Given the description of an element on the screen output the (x, y) to click on. 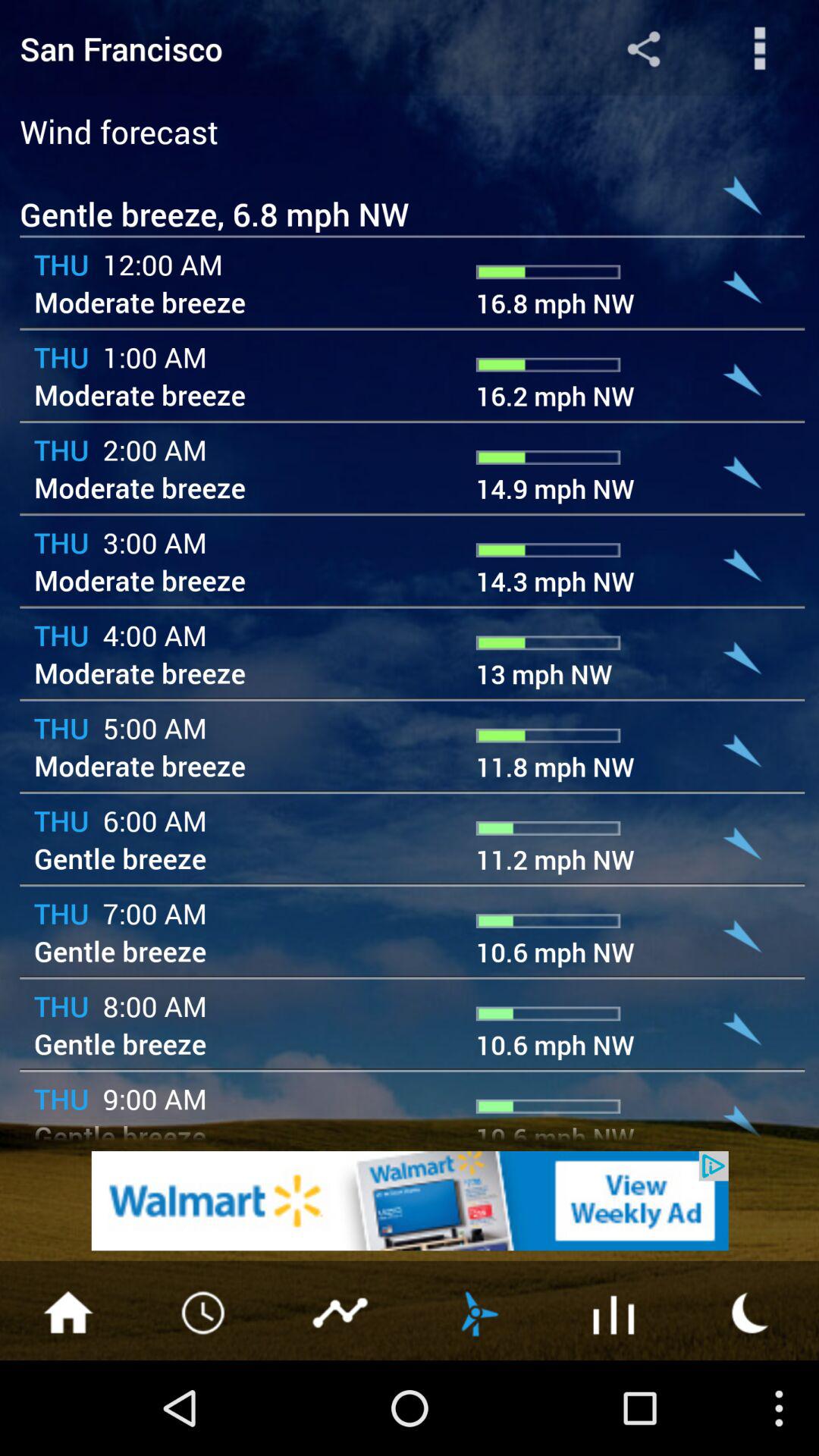
settings (759, 48)
